Given the description of an element on the screen output the (x, y) to click on. 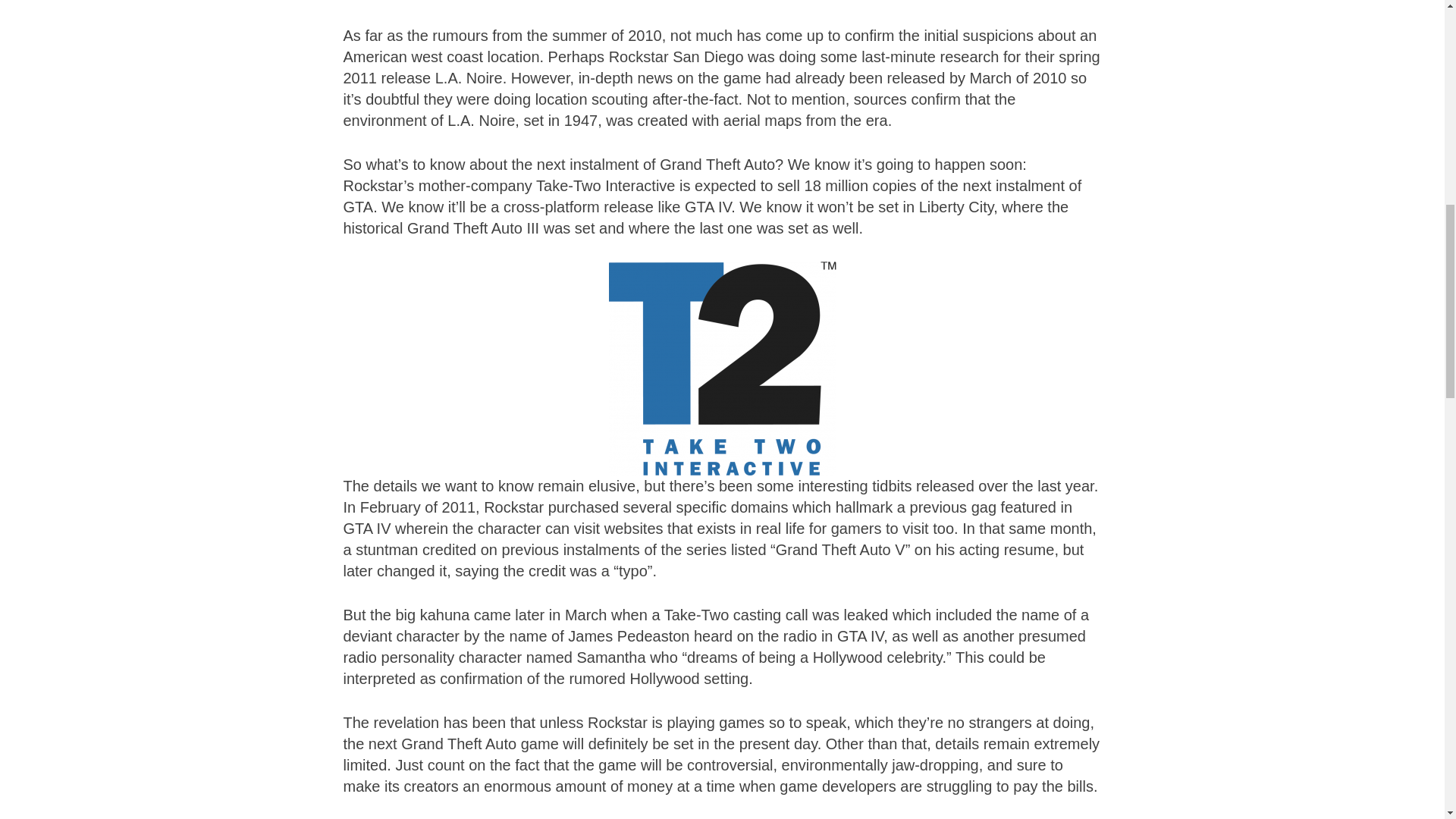
Take-Two Interactive Logo (721, 368)
